Given the description of an element on the screen output the (x, y) to click on. 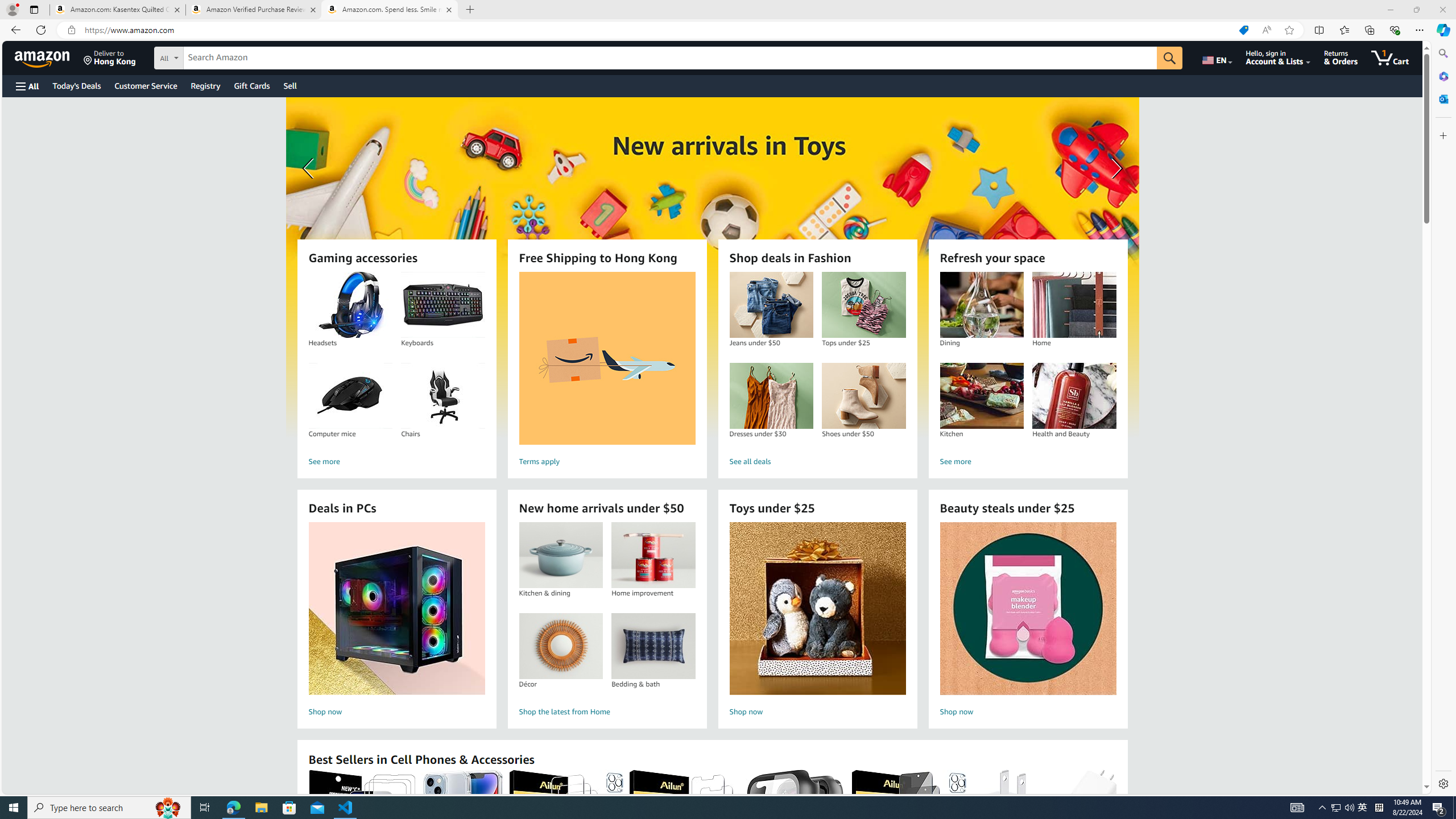
Amazon Verified Purchase Reviews - Amazon Customer Service (253, 9)
Chairs (442, 395)
Headsets (350, 304)
1 item in cart (1389, 57)
